Given the description of an element on the screen output the (x, y) to click on. 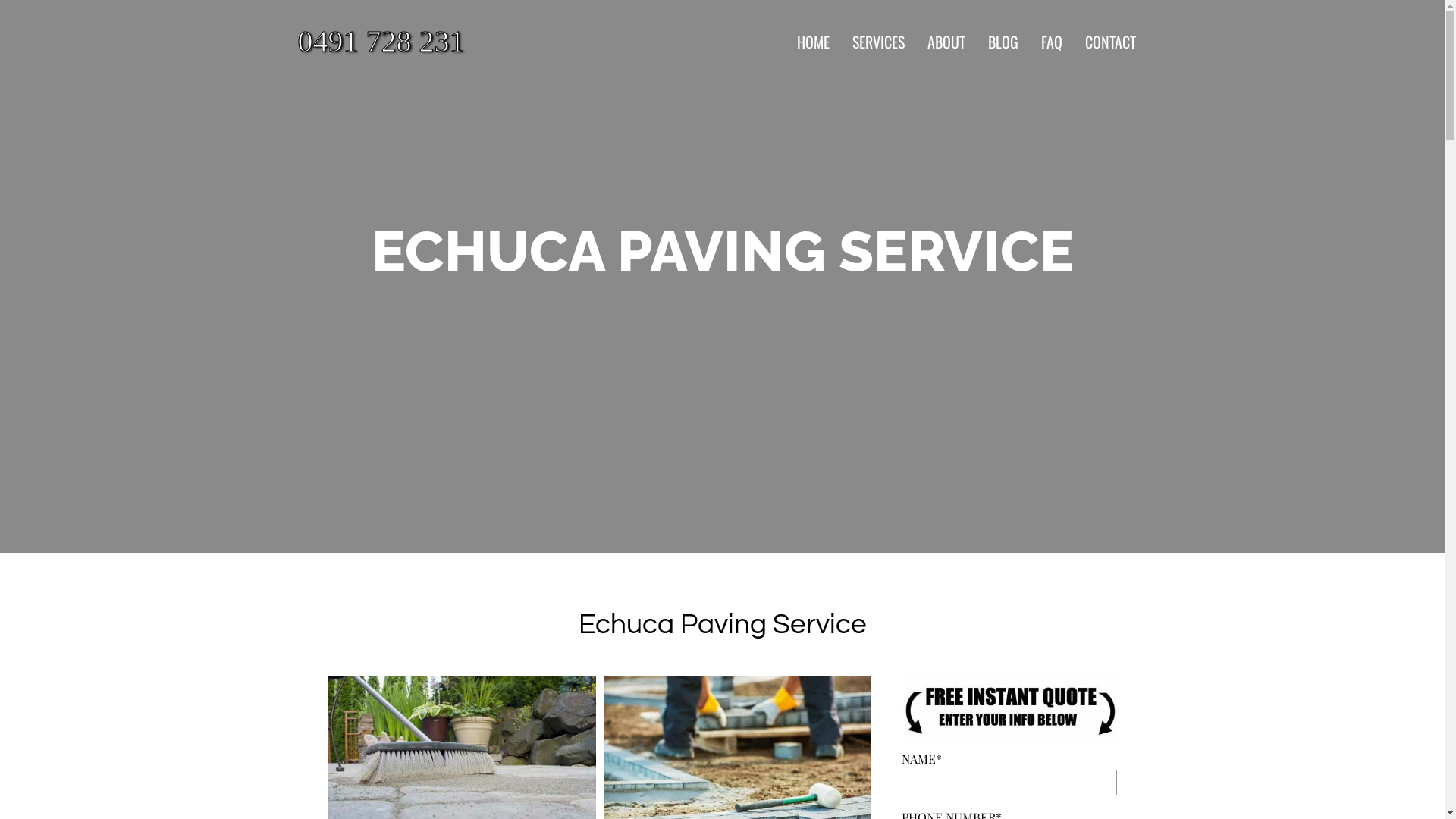
BannerBlack Element type: hover (1008, 708)
HOME Element type: text (812, 41)
FAQ Element type: text (1051, 41)
0491 728 231 Element type: text (397, 41)
CONTACT Element type: text (1110, 41)
SERVICES Element type: text (877, 41)
ABOUT Element type: text (946, 41)
BLOG Element type: text (1002, 41)
